Given the description of an element on the screen output the (x, y) to click on. 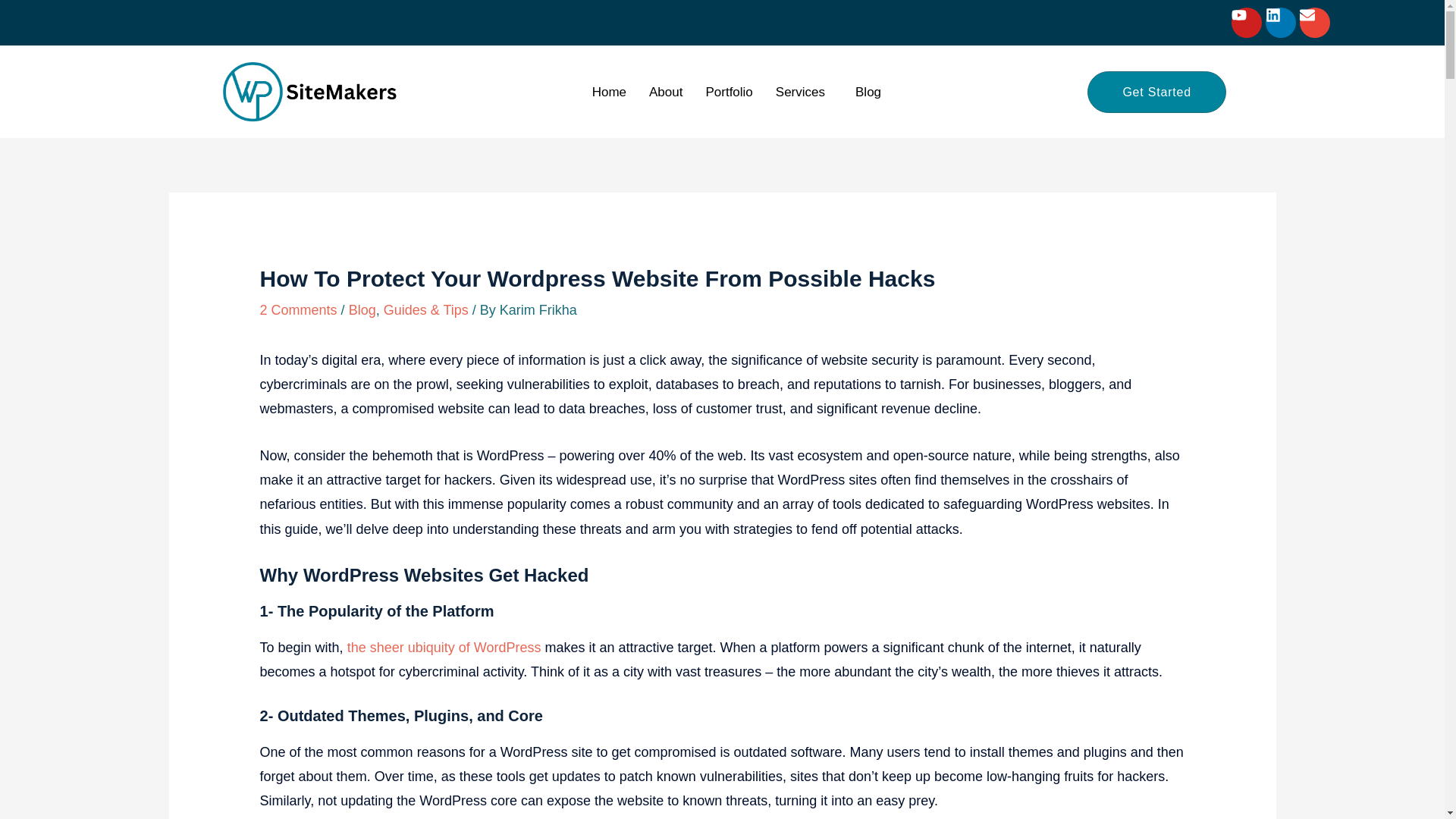
Get Started (1156, 92)
Services (804, 91)
Youtube (1246, 22)
About (665, 91)
Portfolio (728, 91)
View all posts by Karim Frikha (537, 309)
Home (608, 91)
the sheer ubiquity of WordPress (444, 647)
Blog (362, 309)
Karim Frikha (537, 309)
